Given the description of an element on the screen output the (x, y) to click on. 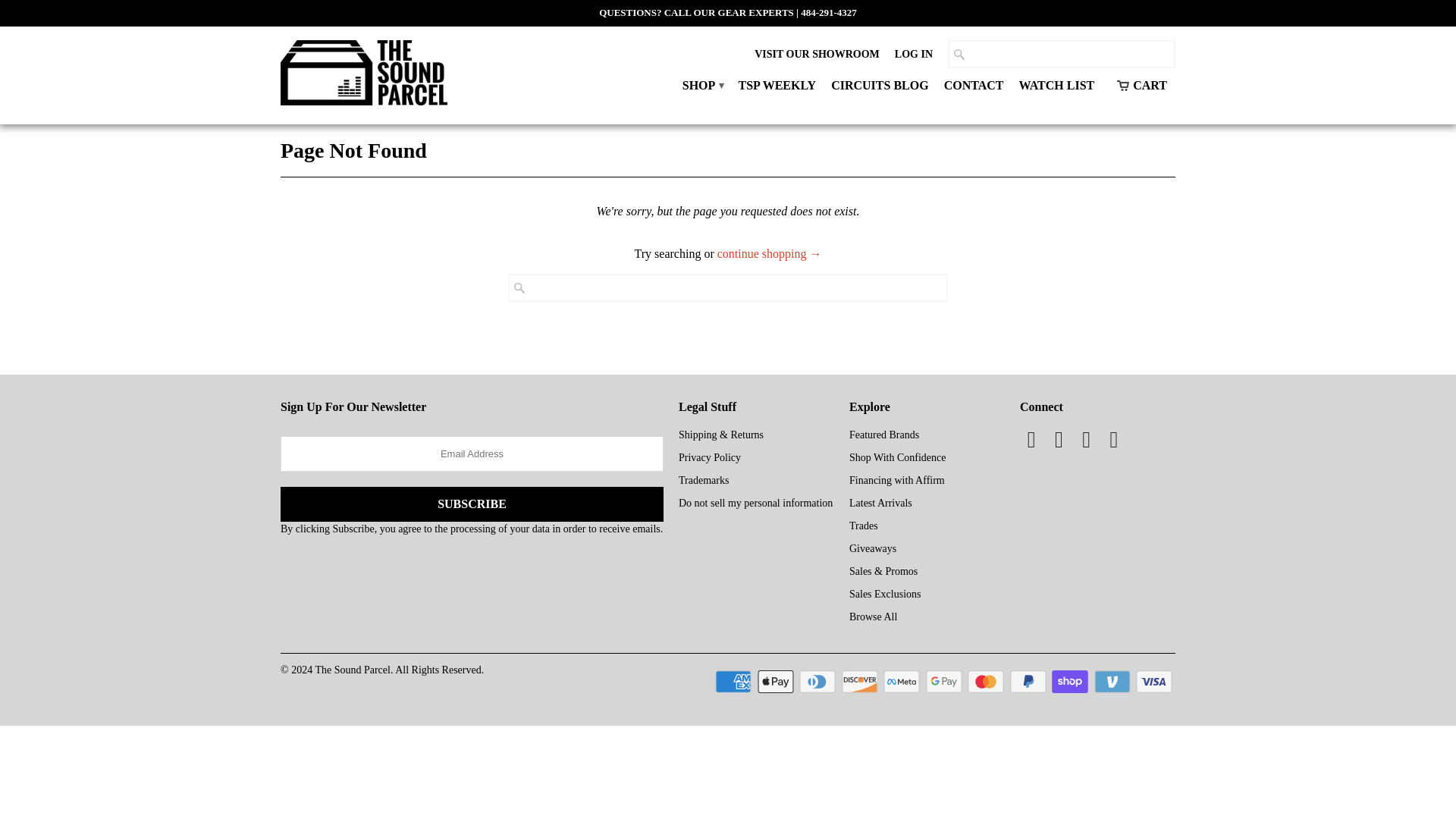
CART (1141, 85)
CIRCUITS BLOG (879, 88)
LOG IN (914, 57)
WATCH LIST (1055, 88)
Visit Our Showroom (816, 57)
The Sound Parcel (363, 74)
Subscribe (472, 503)
484-291-4327 (828, 12)
CONTACT (973, 88)
484-291-4327 (828, 12)
